Given the description of an element on the screen output the (x, y) to click on. 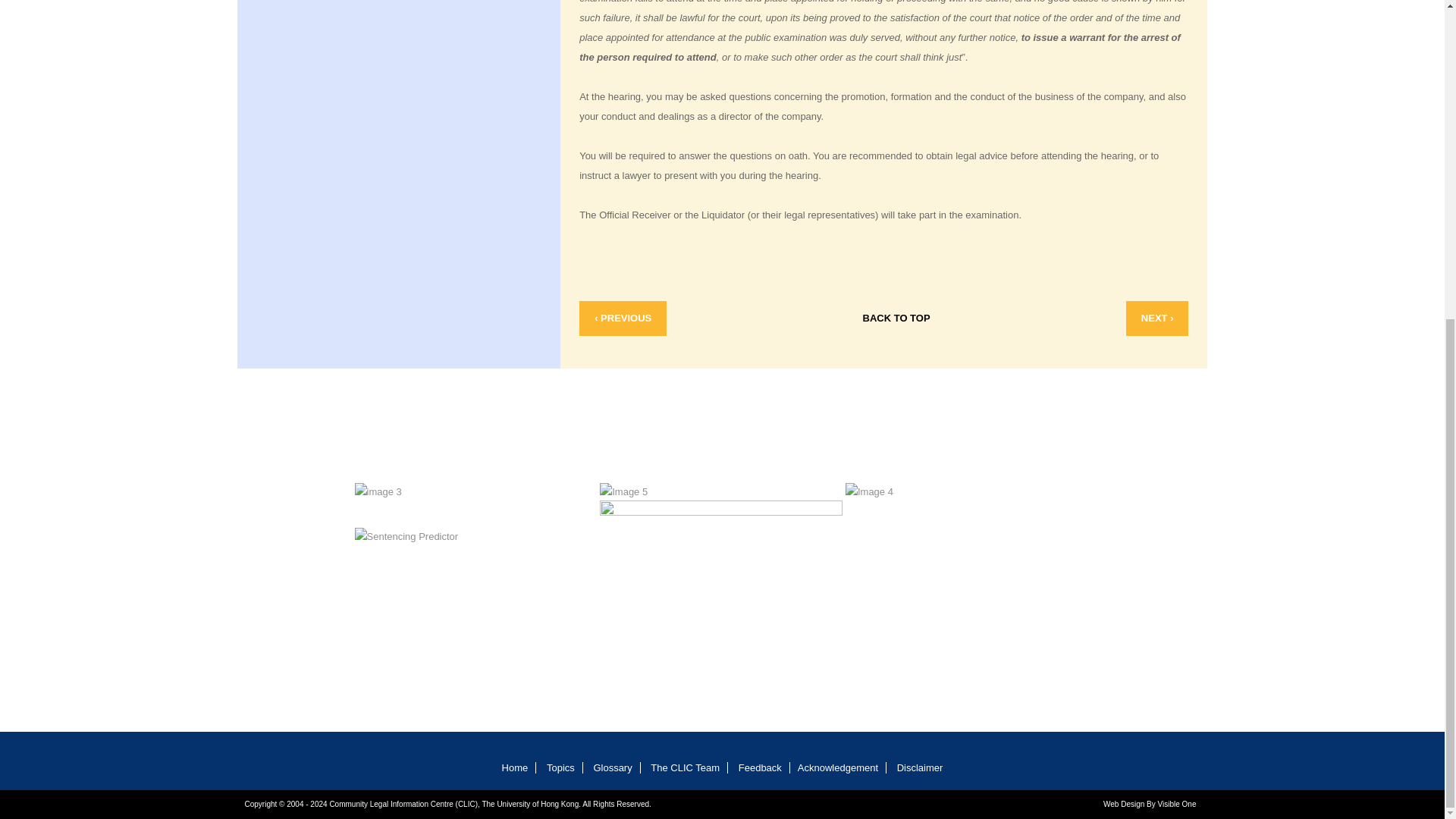
Go to previous page (622, 318)
BACK TO TOP (895, 318)
Go to parent page (895, 318)
Go to next page (1157, 318)
